Given the description of an element on the screen output the (x, y) to click on. 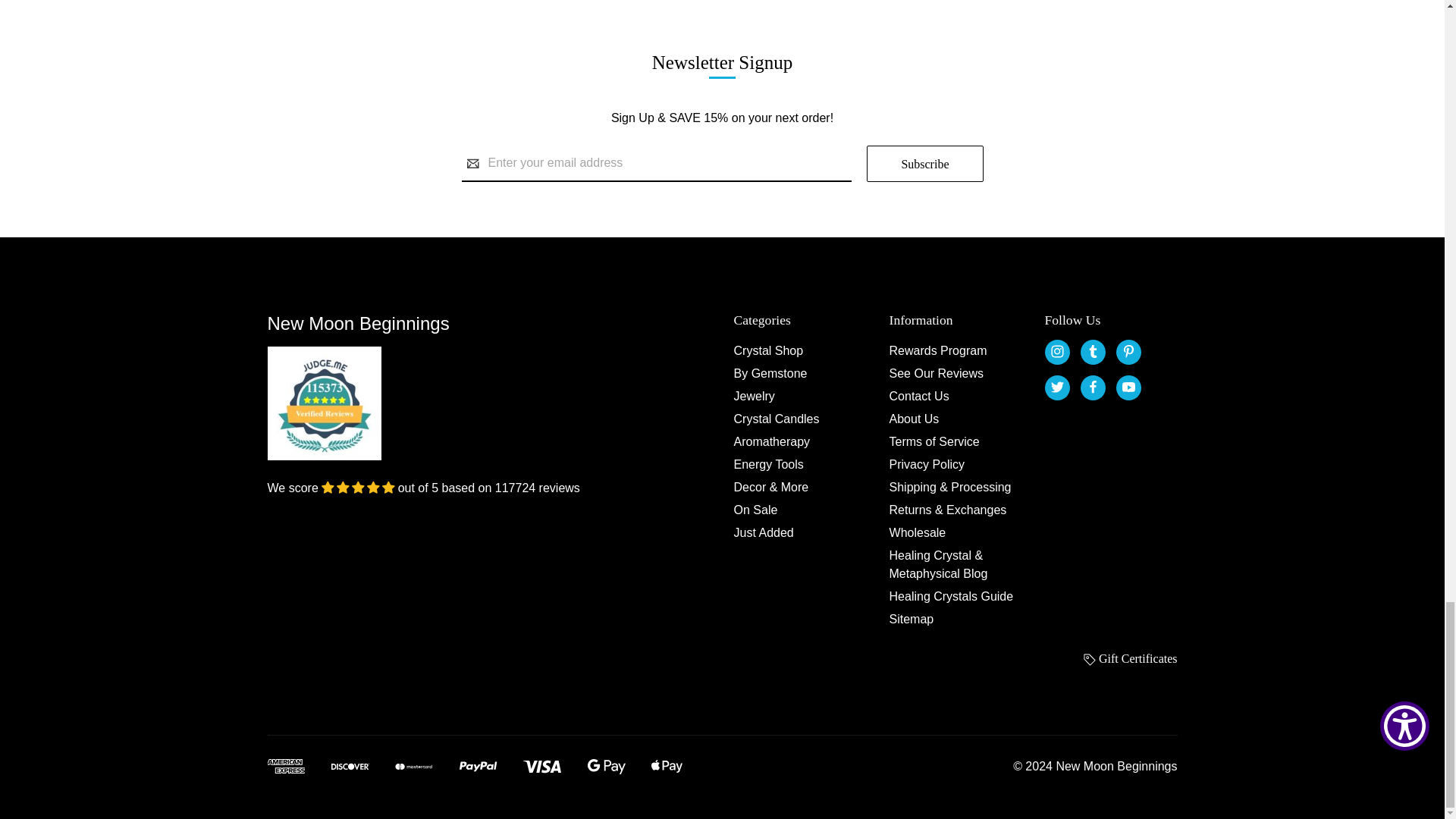
Subscribe (924, 163)
